Given the description of an element on the screen output the (x, y) to click on. 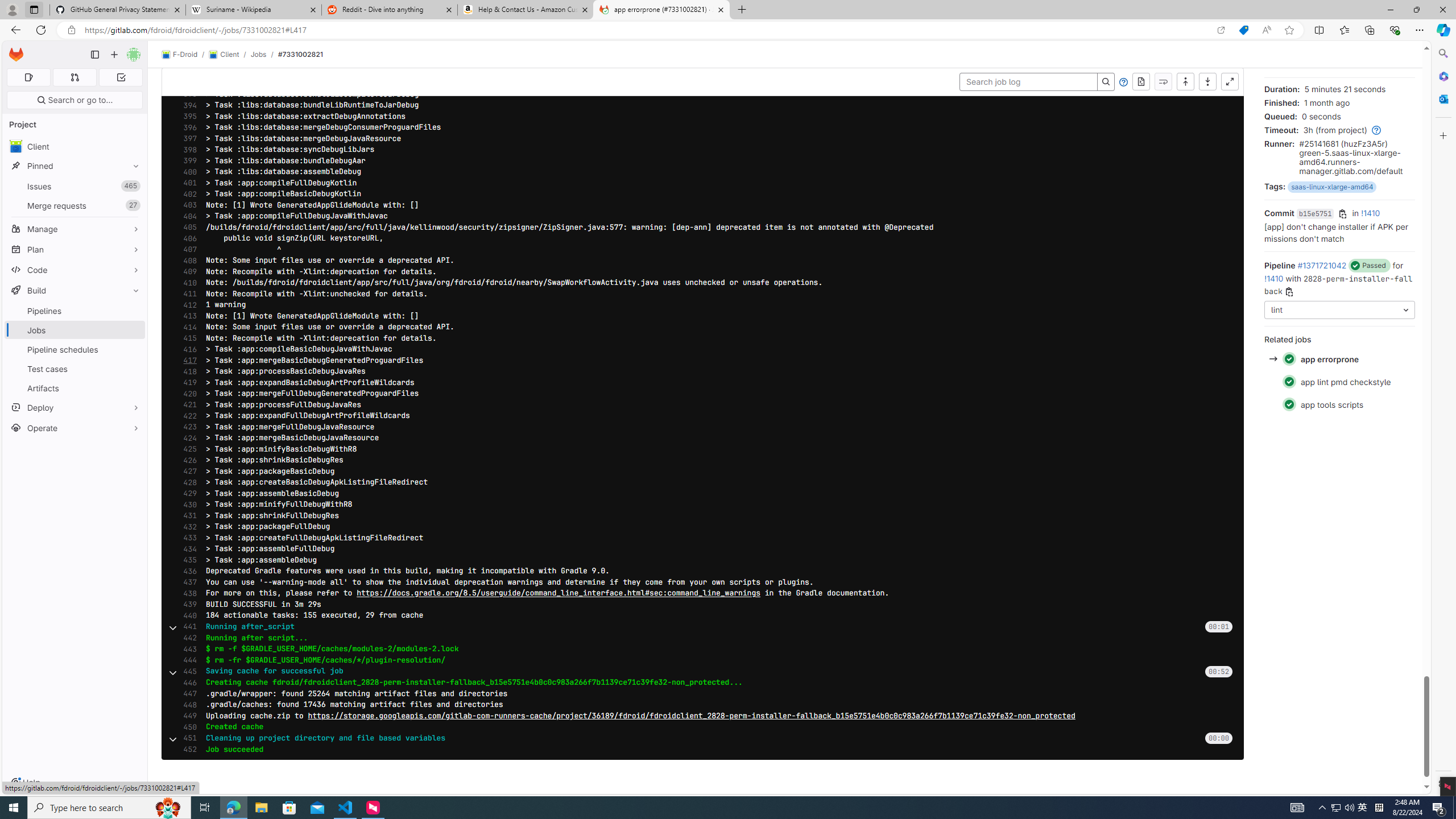
441 (186, 626)
397 (186, 138)
402 (186, 193)
Issues465 (74, 185)
409 (186, 271)
439 (186, 604)
Primary navigation sidebar (94, 54)
430 (186, 504)
Pipeline schedules (74, 348)
Pipelines (74, 310)
Merge requests 0 (74, 76)
405 (186, 227)
